Given the description of an element on the screen output the (x, y) to click on. 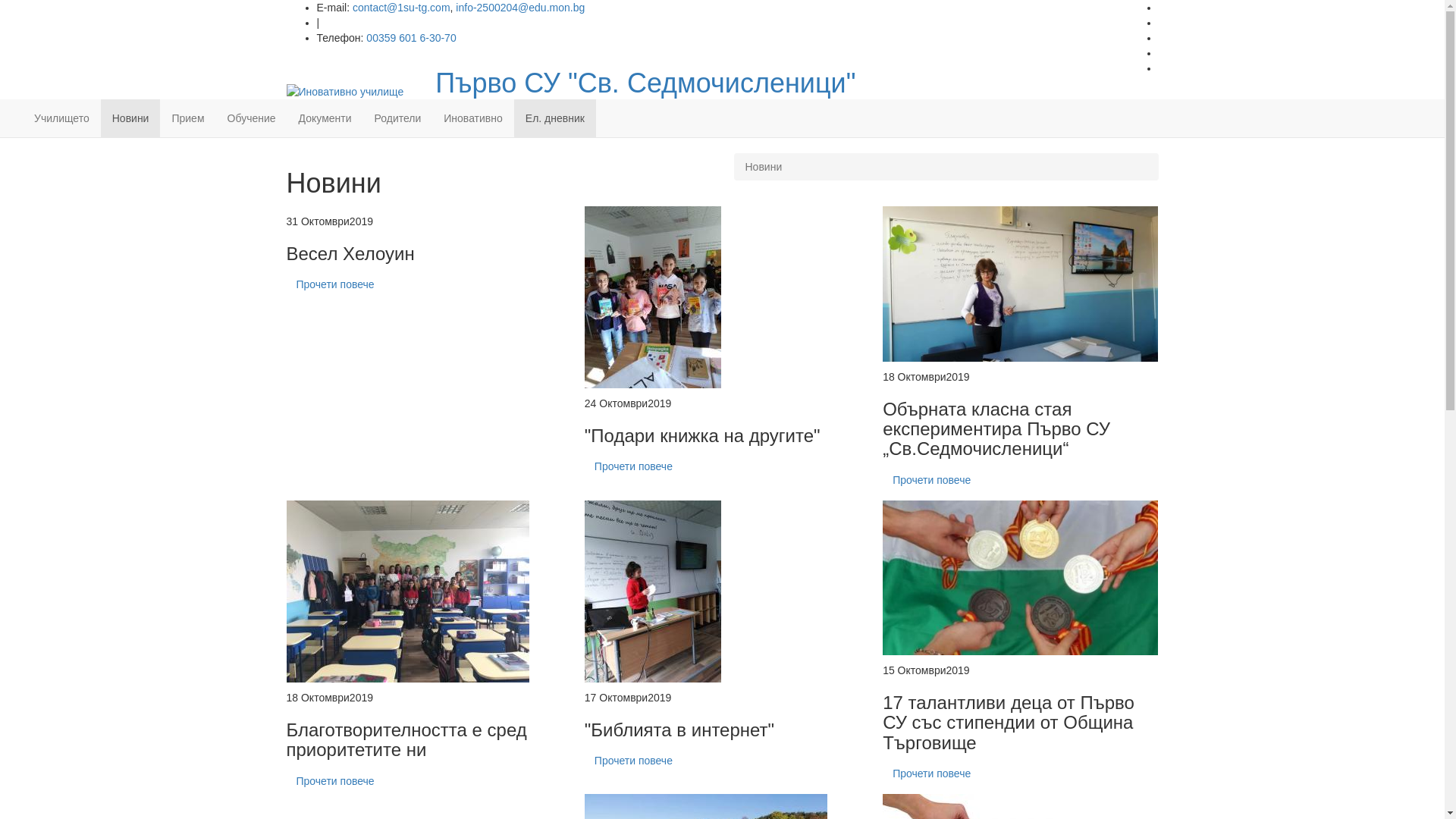
info-2500204@edu.mon.bg Element type: text (519, 7)
contact@1su-tg.com Element type: text (401, 7)
00359 601 6-30-70 Element type: text (410, 37)
